Given the description of an element on the screen output the (x, y) to click on. 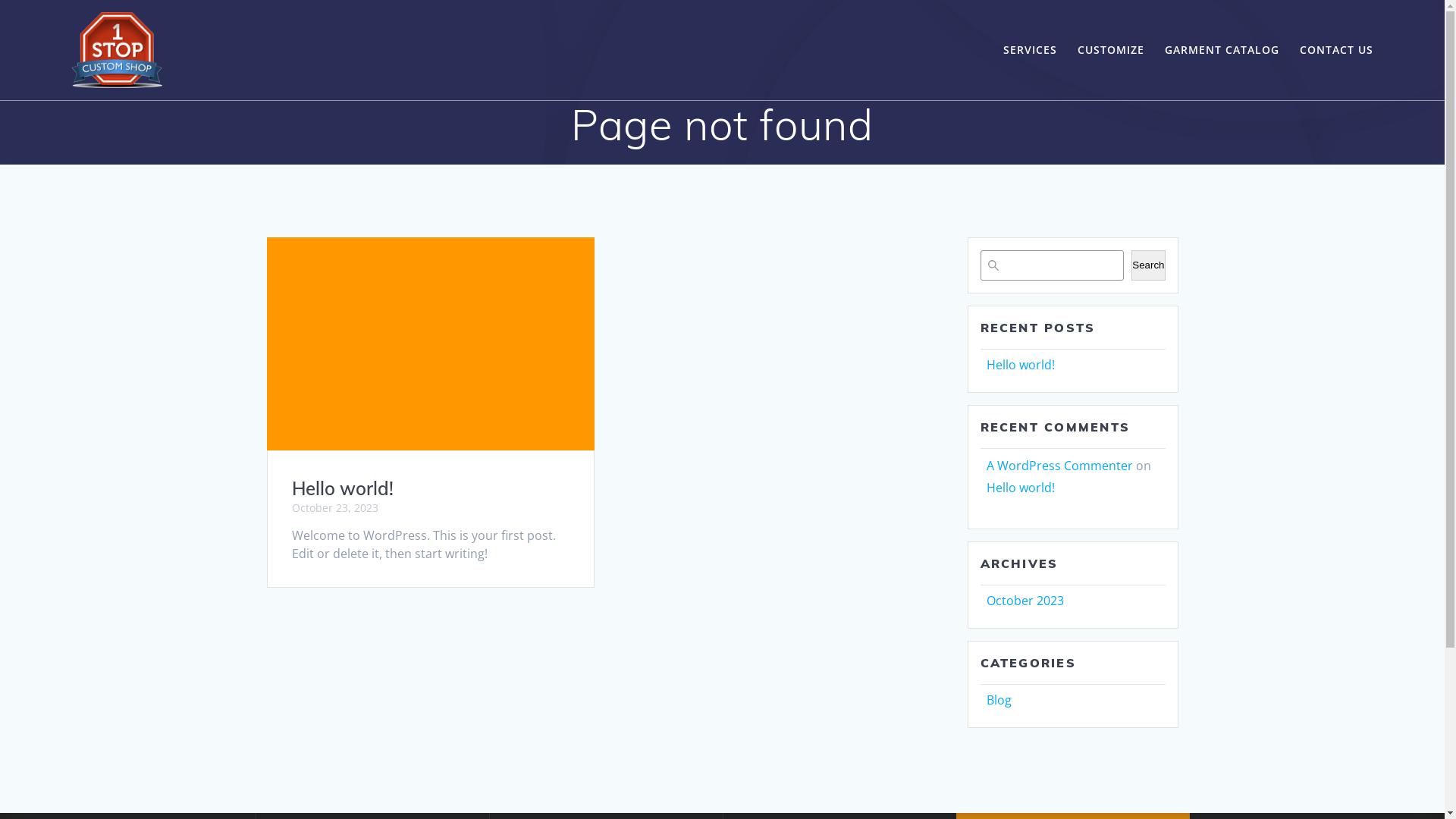
Mesmerize Theme Element type: text (1072, 747)
GARMENT CATALOG Element type: text (1221, 49)
CONTACT US Element type: text (1336, 49)
Hello world! Element type: text (1019, 487)
Hello world! Element type: text (1019, 364)
Hello world! Element type: text (341, 487)
Blog Element type: text (997, 699)
SERVICES Element type: text (1030, 49)
CUSTOMIZE Element type: text (1110, 49)
Search Element type: text (1147, 265)
October 2023 Element type: text (1024, 600)
A WordPress Commenter Element type: text (1058, 465)
